Given the description of an element on the screen output the (x, y) to click on. 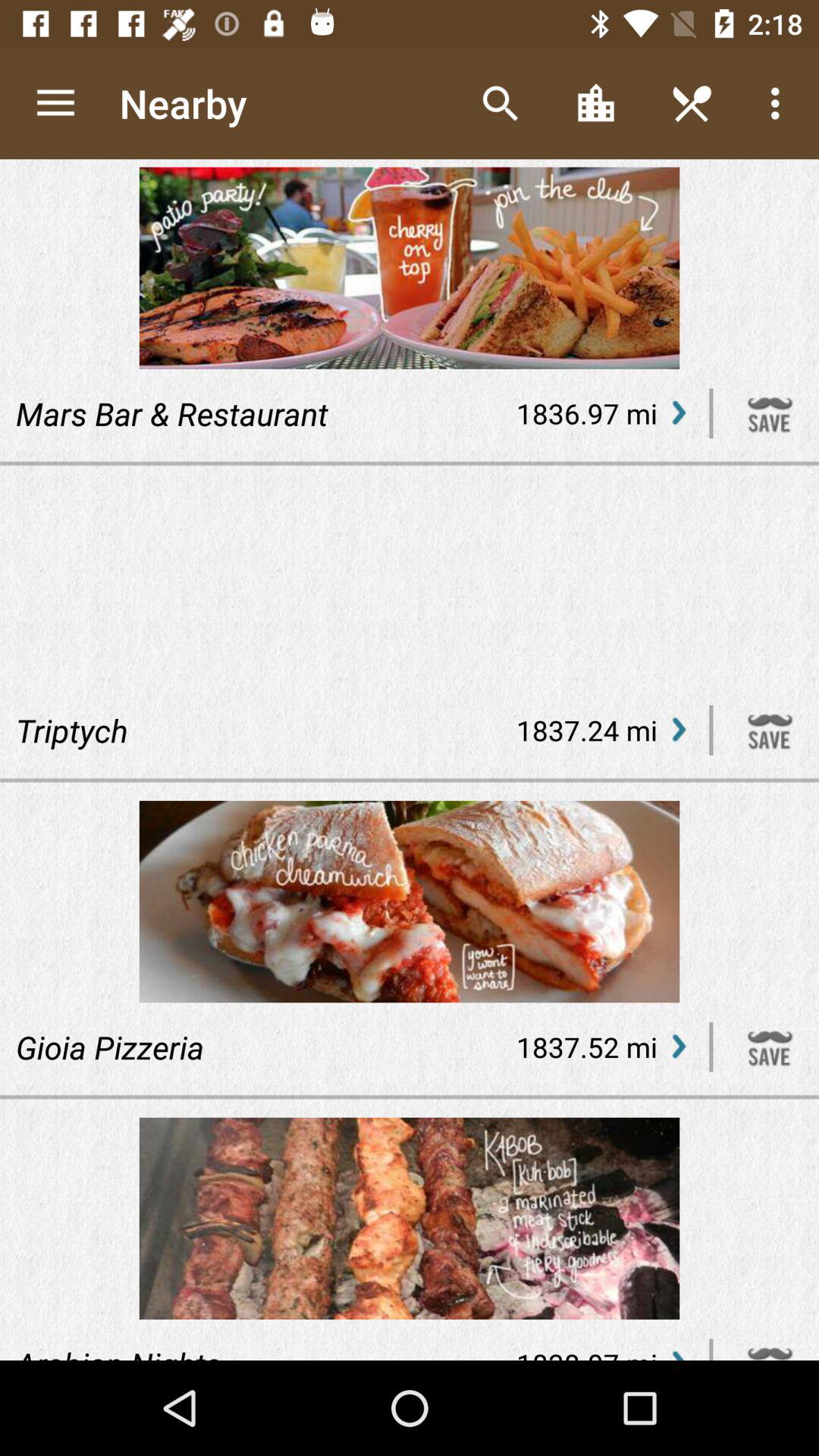
save the restaurant (770, 729)
